Given the description of an element on the screen output the (x, y) to click on. 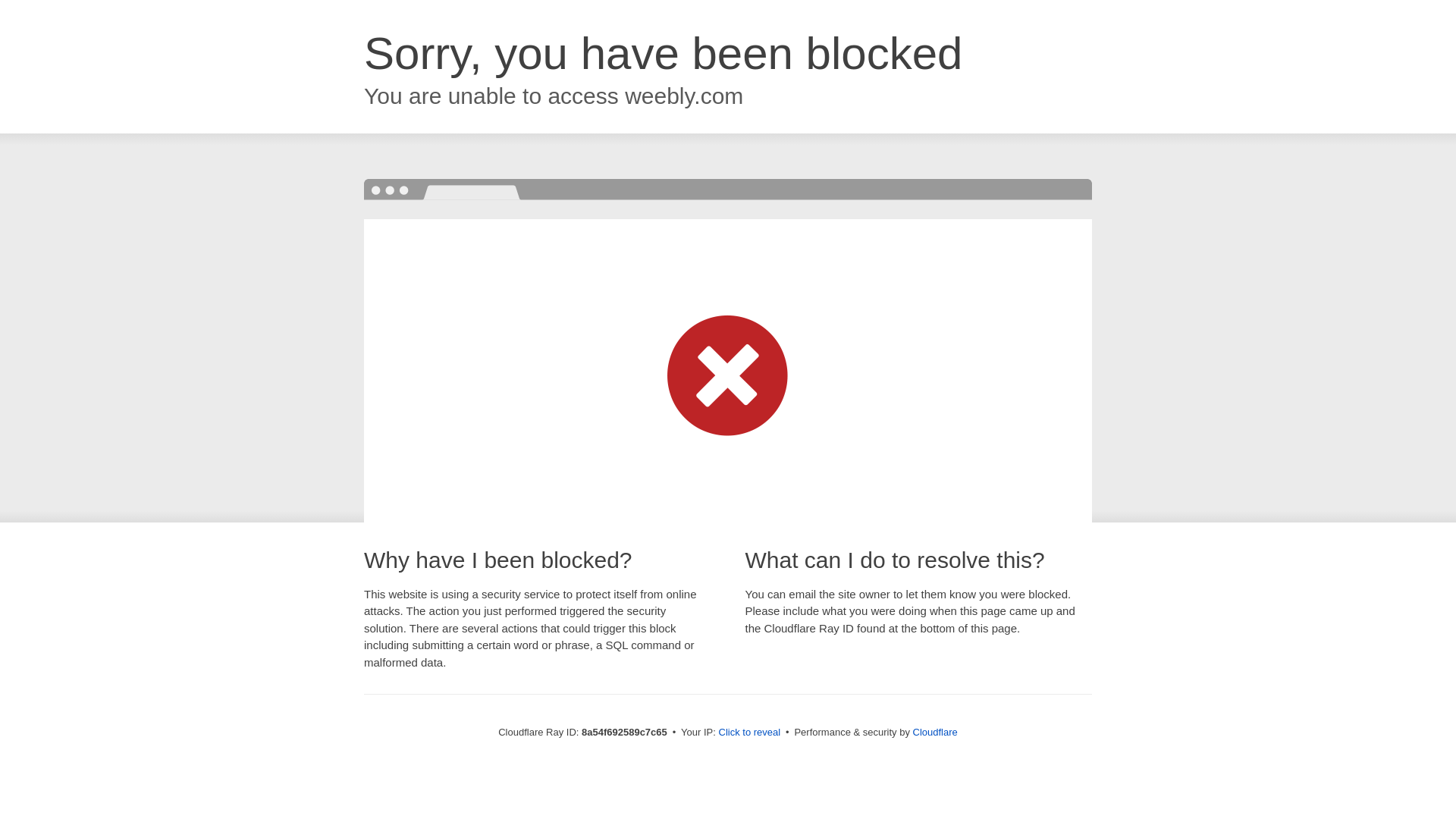
Click to reveal (749, 732)
Cloudflare (935, 731)
